Given the description of an element on the screen output the (x, y) to click on. 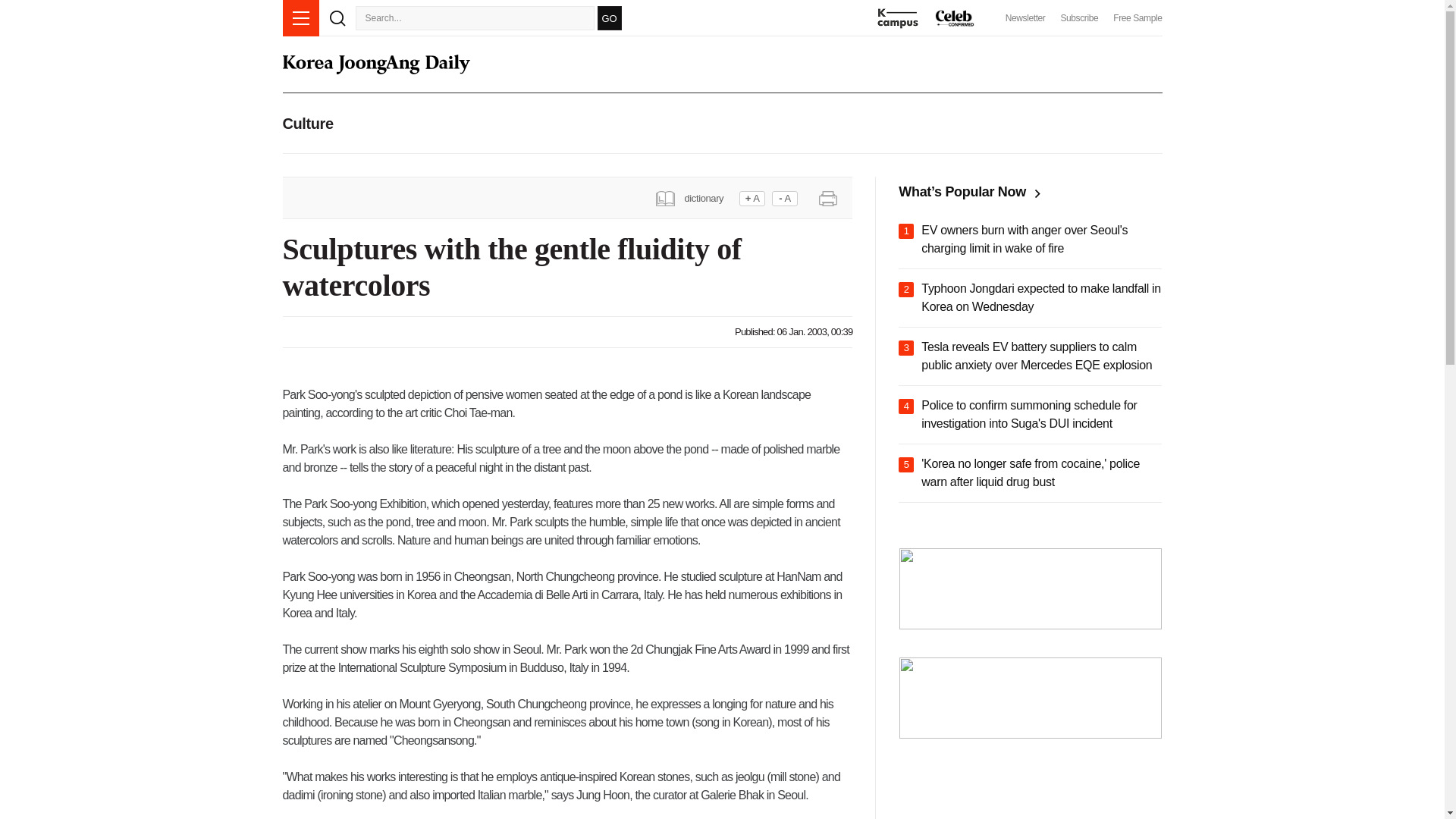
Free Sample (1137, 18)
Subscribe (1078, 18)
- A (784, 198)
Newsletter (1025, 18)
dictionary (695, 196)
GO (608, 17)
